Given the description of an element on the screen output the (x, y) to click on. 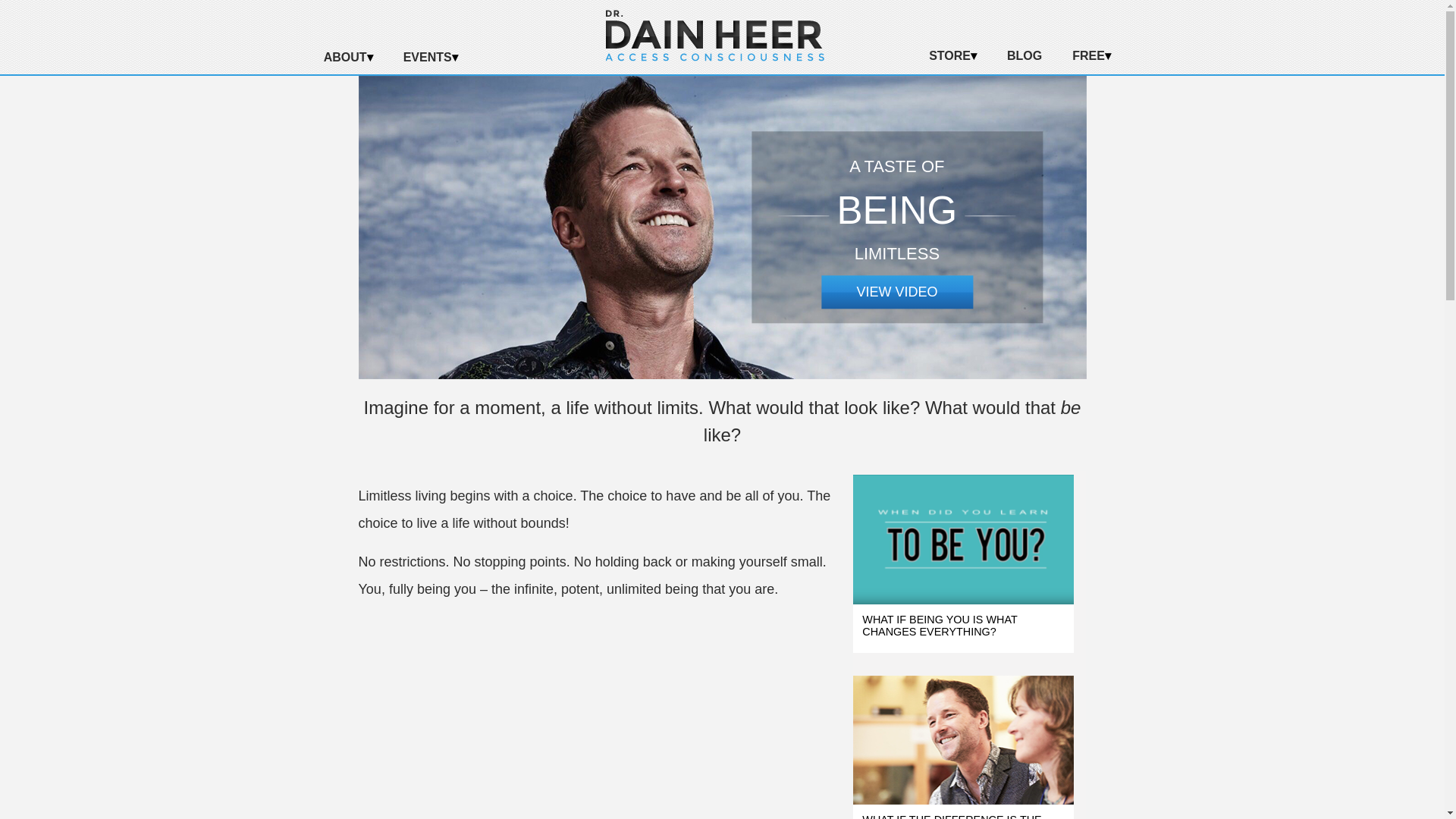
EVENTS (430, 57)
Dr. Dain Heer (714, 56)
BLOG (1023, 55)
VIEW VIDEO (896, 291)
ABOUT (347, 57)
FREE (1091, 55)
STORE (952, 55)
